Given the description of an element on the screen output the (x, y) to click on. 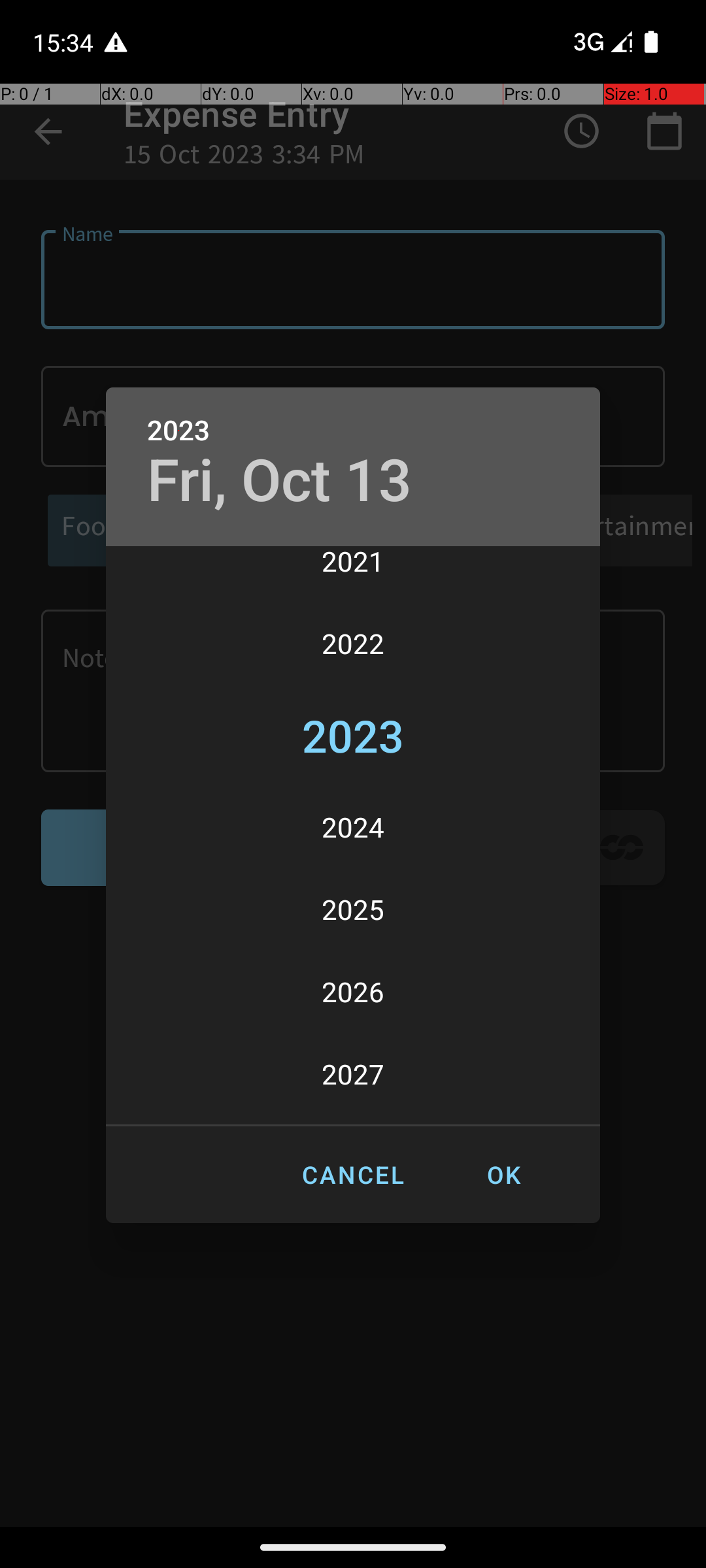
2023 Element type: android.widget.TextView (178, 430)
Fri, Oct 13 Element type: android.widget.TextView (279, 480)
2021 Element type: android.widget.TextView (352, 574)
2022 Element type: android.widget.TextView (352, 643)
2024 Element type: android.widget.TextView (352, 826)
2025 Element type: android.widget.TextView (352, 909)
2026 Element type: android.widget.TextView (352, 991)
2027 Element type: android.widget.TextView (352, 1073)
2028 Element type: android.widget.TextView (352, 1120)
